Given the description of an element on the screen output the (x, y) to click on. 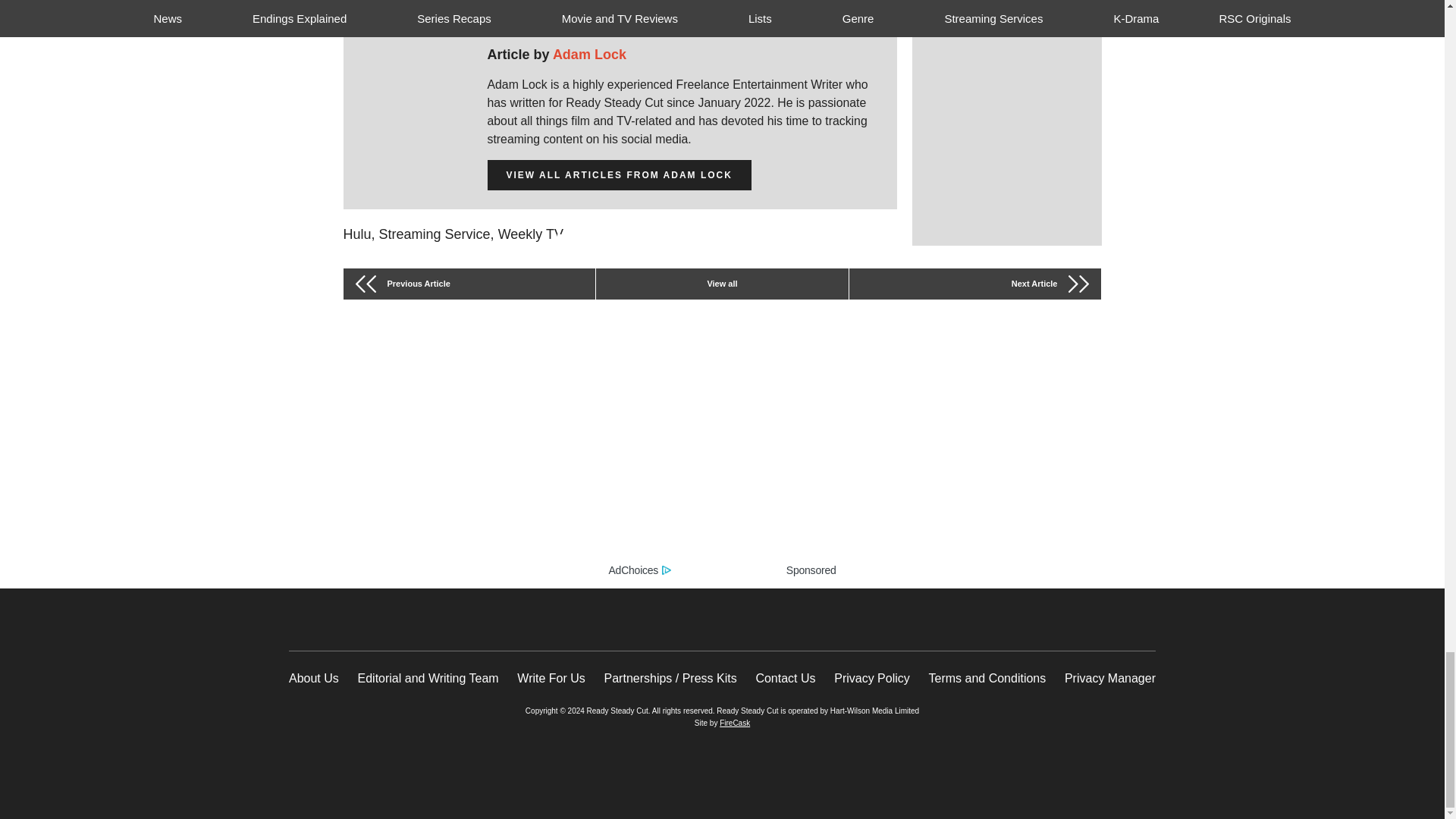
ad content (721, 454)
